Given the description of an element on the screen output the (x, y) to click on. 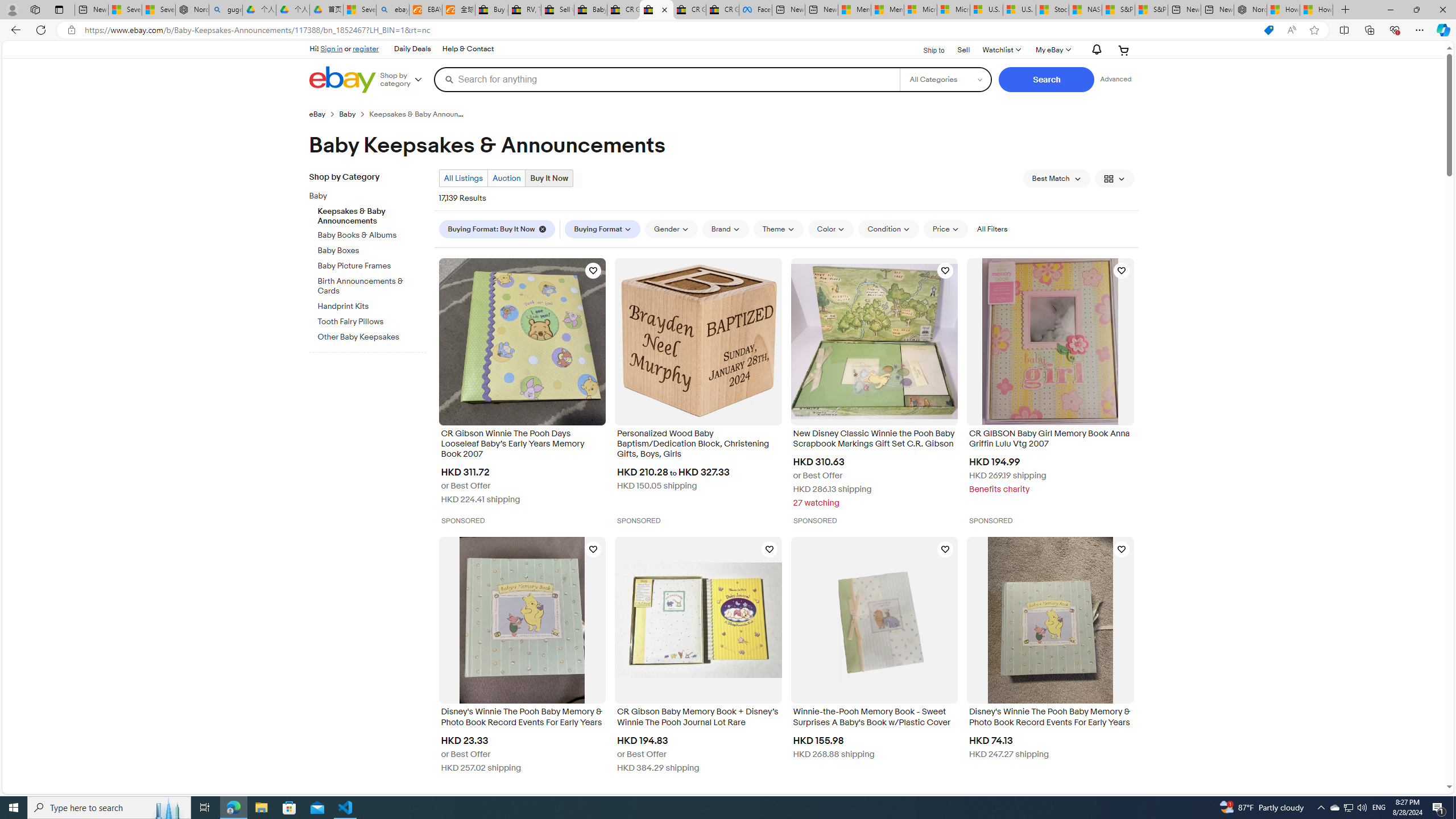
eBay Home (341, 79)
Shop by category (405, 79)
Buy It Now (549, 177)
Buying Format (602, 229)
Condition (887, 229)
Buy It Now Current view (548, 178)
Expand Cart (1123, 49)
This site has coupons! Shopping in Microsoft Edge (1268, 29)
Search for anything (666, 78)
Baby Boxes (371, 248)
All Filters (991, 229)
